Given the description of an element on the screen output the (x, y) to click on. 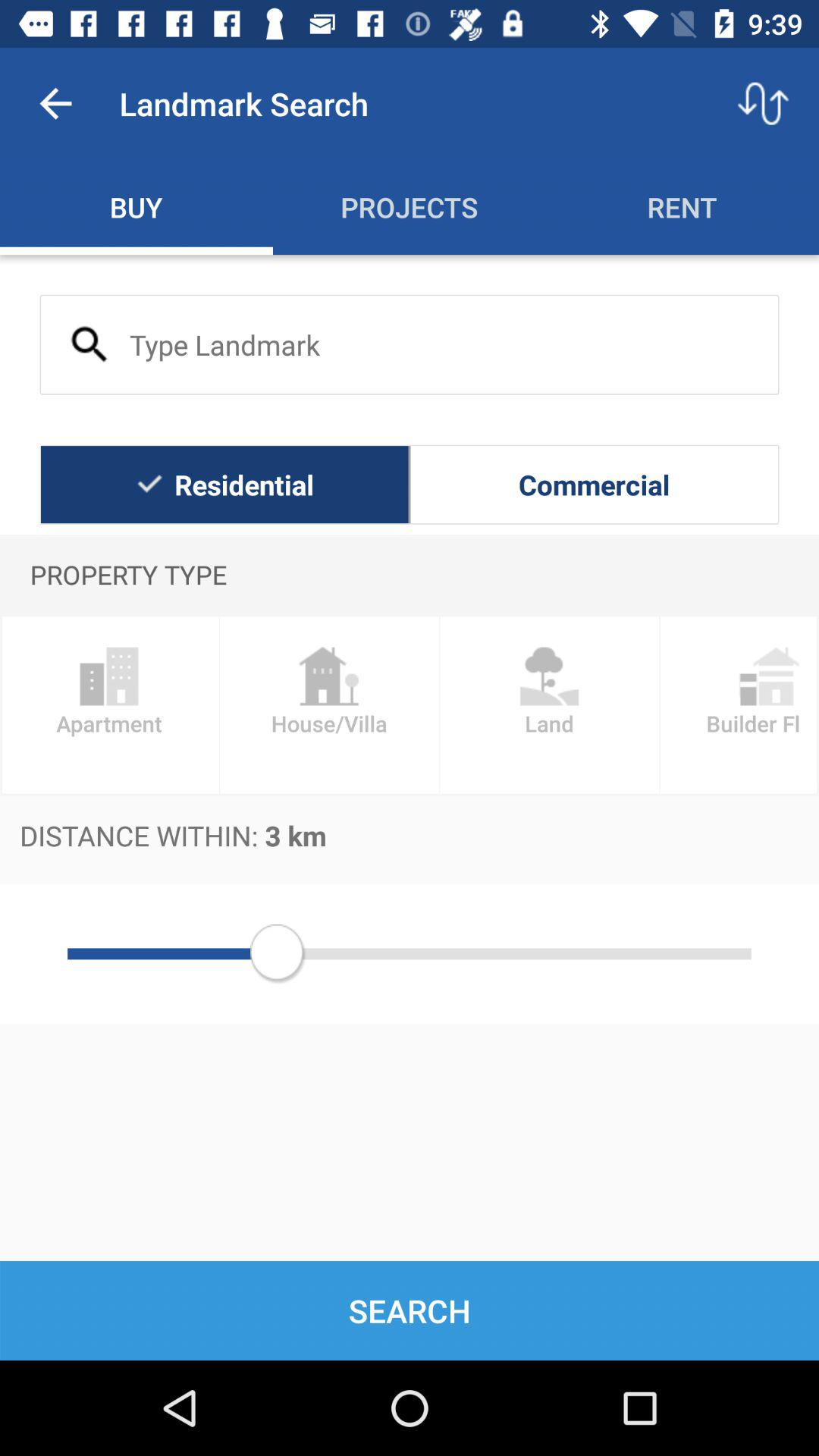
select item to the left of the landmark search item (55, 103)
